Given the description of an element on the screen output the (x, y) to click on. 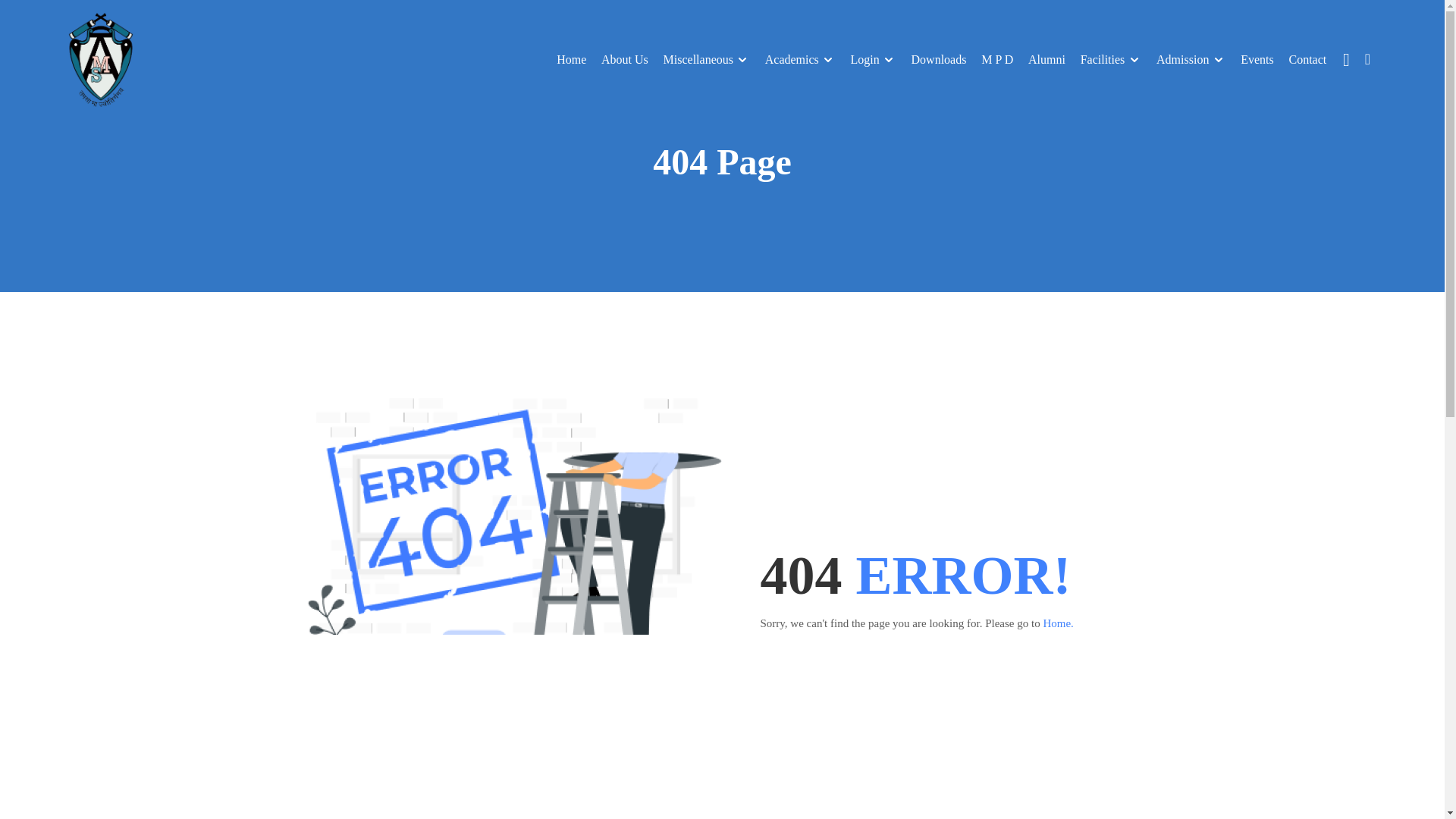
Home (571, 59)
About Us (624, 59)
Miscellaneous (699, 59)
